Given the description of an element on the screen output the (x, y) to click on. 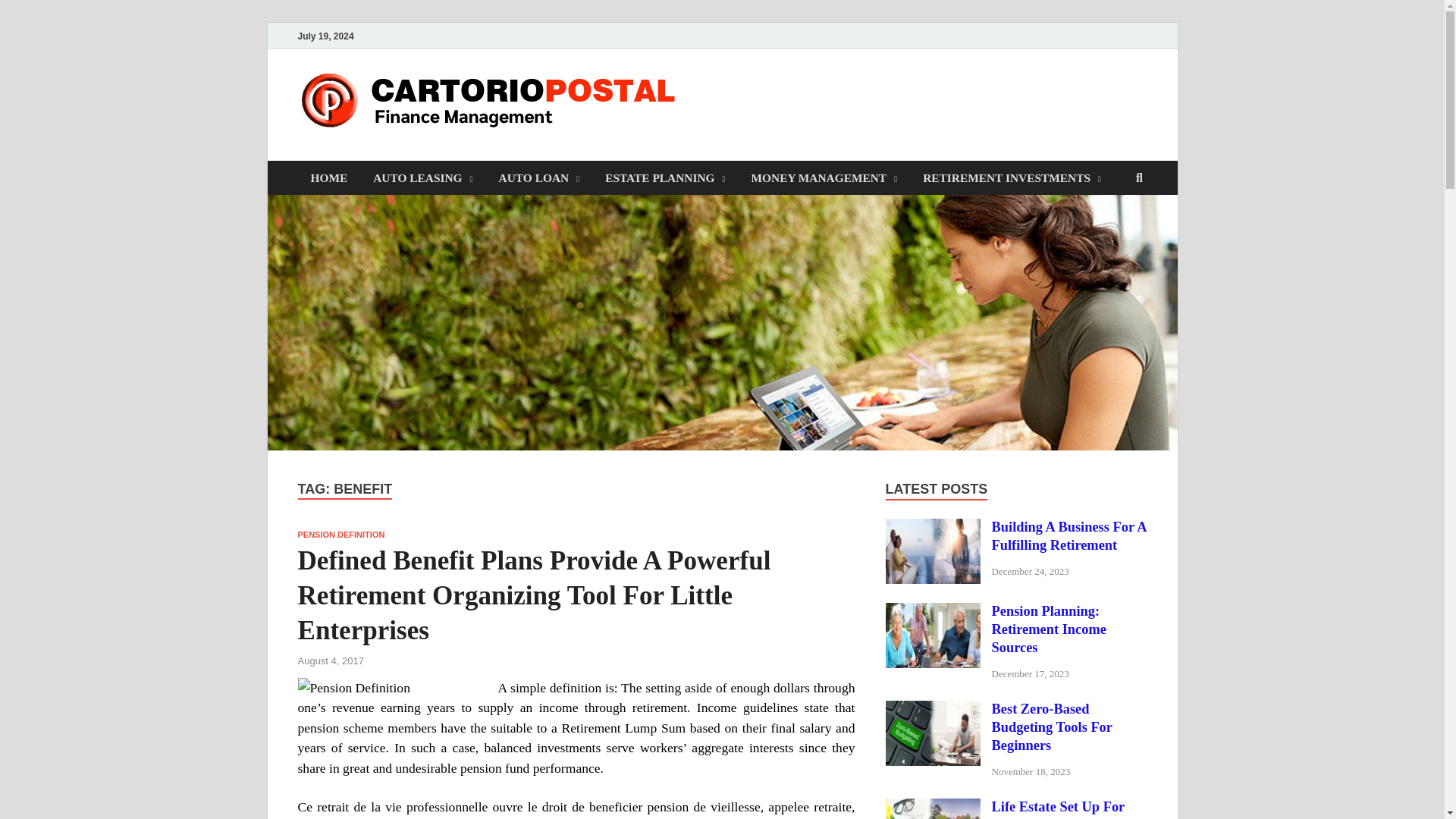
Best Zero-Based Budgeting Tools For Beginners (932, 710)
Building A Business For A Fulfilling Retirement (932, 528)
ESTATE PLANNING (665, 177)
HOME (328, 177)
AUTO LEASING (421, 177)
Pension Planning: Retirement Income Sources (932, 612)
Life Estate Set Up For Asset Protection (932, 807)
AUTO LOAN (539, 177)
MONEY MANAGEMENT (824, 177)
RETIREMENT INVESTMENTS (1011, 177)
CP-Finance (766, 100)
